Given the description of an element on the screen output the (x, y) to click on. 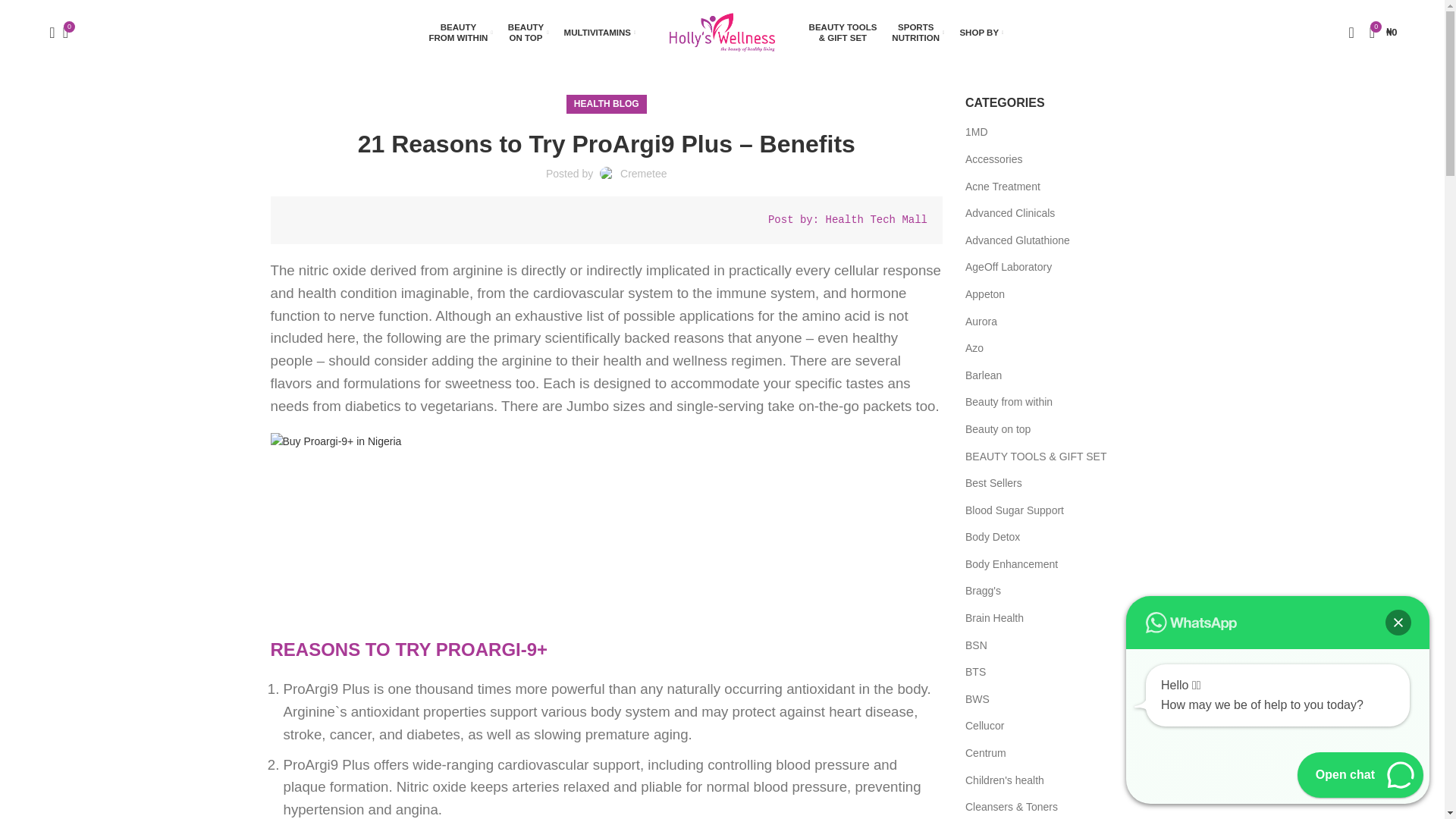
Shopping cart (1383, 31)
MULTIVITAMINS (460, 31)
SHOP BY (917, 31)
